Given the description of an element on the screen output the (x, y) to click on. 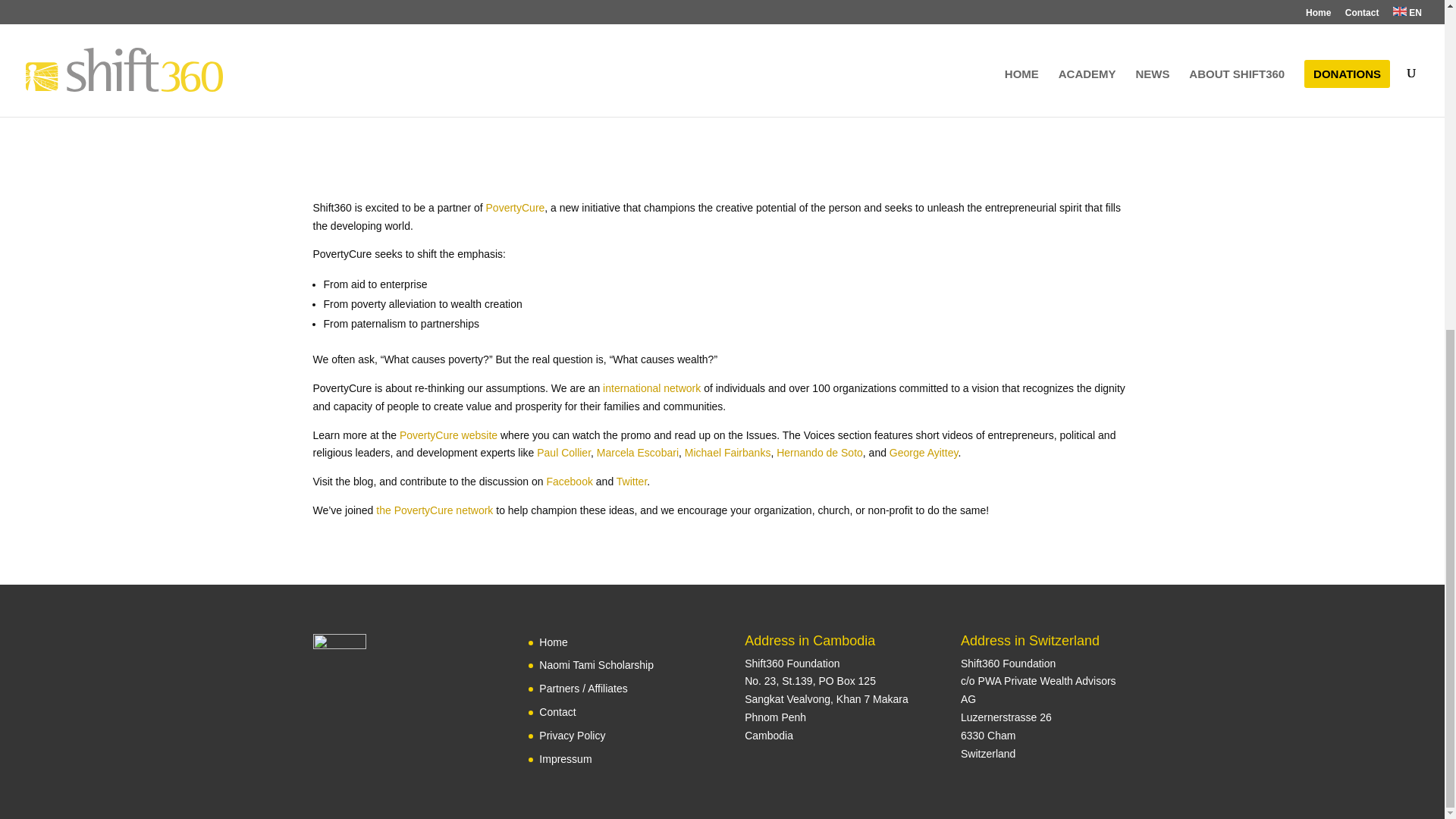
Home (552, 642)
Marcela Escobari (637, 452)
the PovertyCure network (434, 510)
George Ayittey (923, 452)
Naomi Tami Scholarship (595, 664)
Hernando de Soto (819, 452)
Paul Collier (564, 452)
Facebook (569, 481)
PovertyCure website (447, 435)
Contact (556, 711)
Privacy Policy (571, 735)
international network (651, 387)
Twitter (630, 481)
Michael Fairbanks (727, 452)
PovertyCure (515, 207)
